Given the description of an element on the screen output the (x, y) to click on. 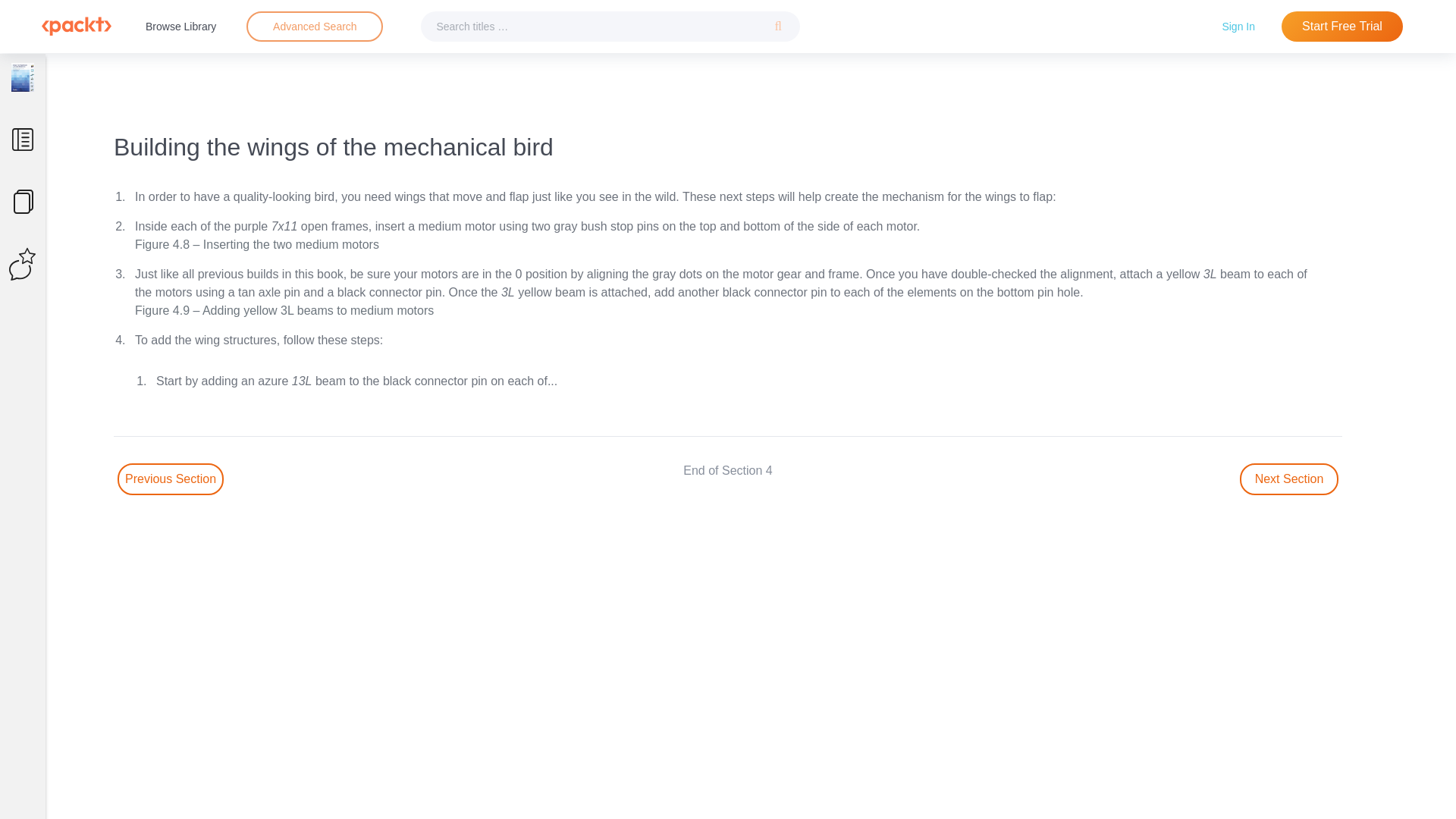
Advanced Search (315, 26)
Browse Library (180, 26)
Go to Previous section (170, 479)
Advanced Search (314, 26)
Advanced search (314, 26)
Sign In (1238, 26)
Start Free Trial (1342, 26)
Go to next section (1289, 479)
